Given the description of an element on the screen output the (x, y) to click on. 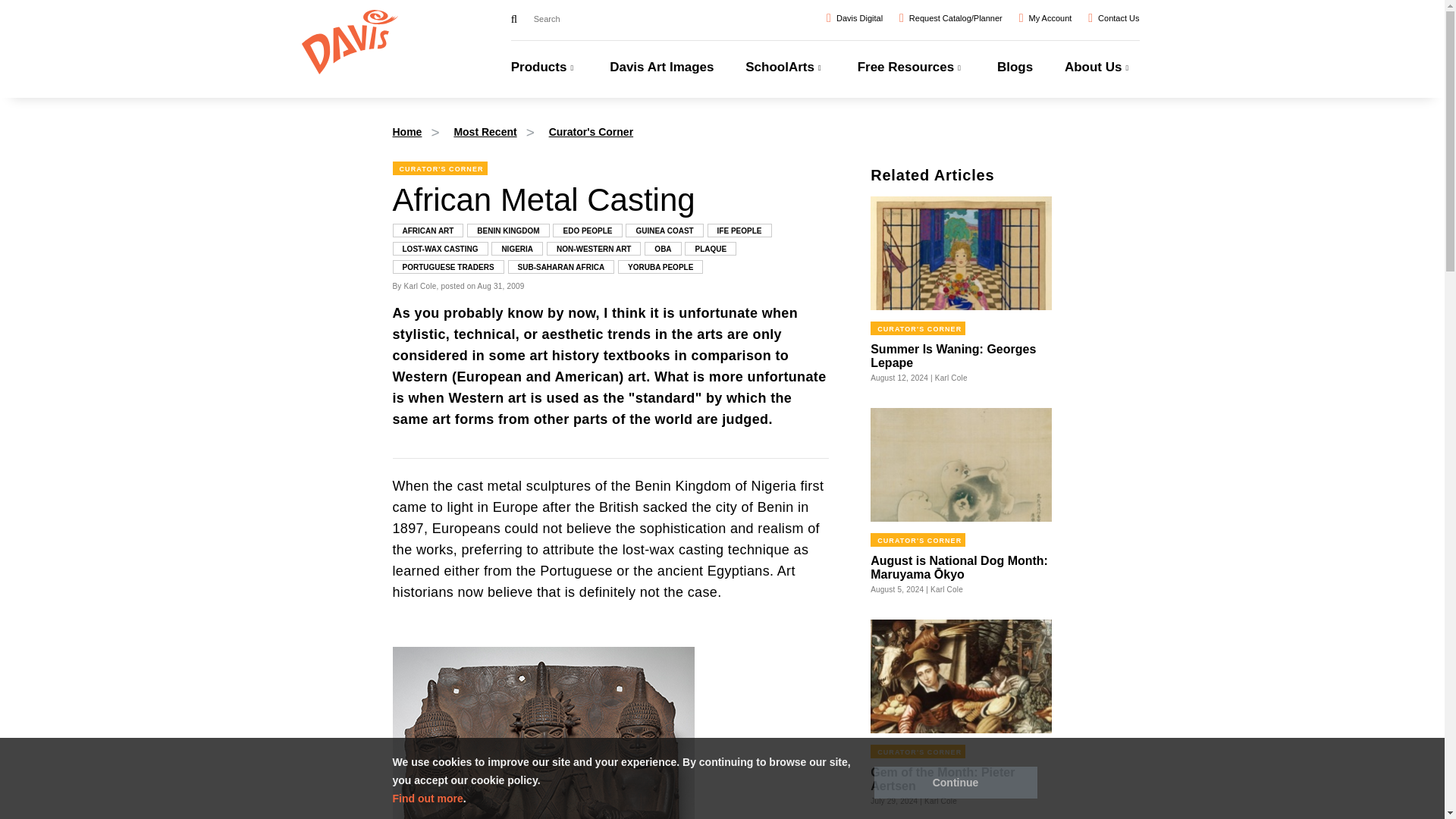
Products (544, 77)
My Account (1045, 16)
Contact Us (1112, 16)
Contact Us (1112, 16)
Davis Digital (854, 16)
Davis Digital (854, 16)
My Account (1045, 16)
